Given the description of an element on the screen output the (x, y) to click on. 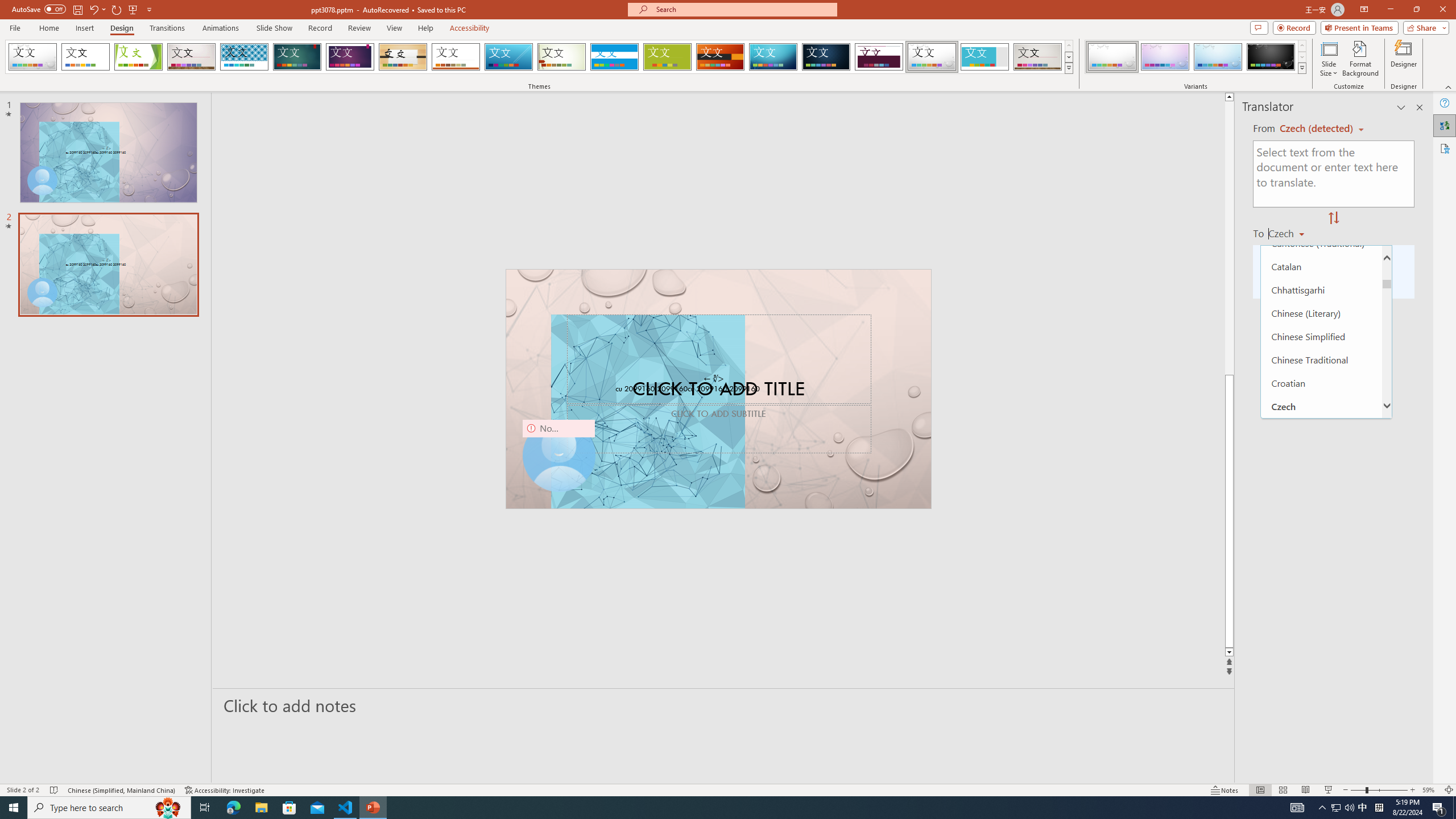
Galician (1320, 731)
Gallery (1037, 56)
Ion Boardroom (350, 56)
Circuit (772, 56)
Swap "from" and "to" languages. (1333, 218)
Faroese (1320, 592)
Czech (1291, 232)
French (Canada) (1320, 708)
Facet (138, 56)
